Given the description of an element on the screen output the (x, y) to click on. 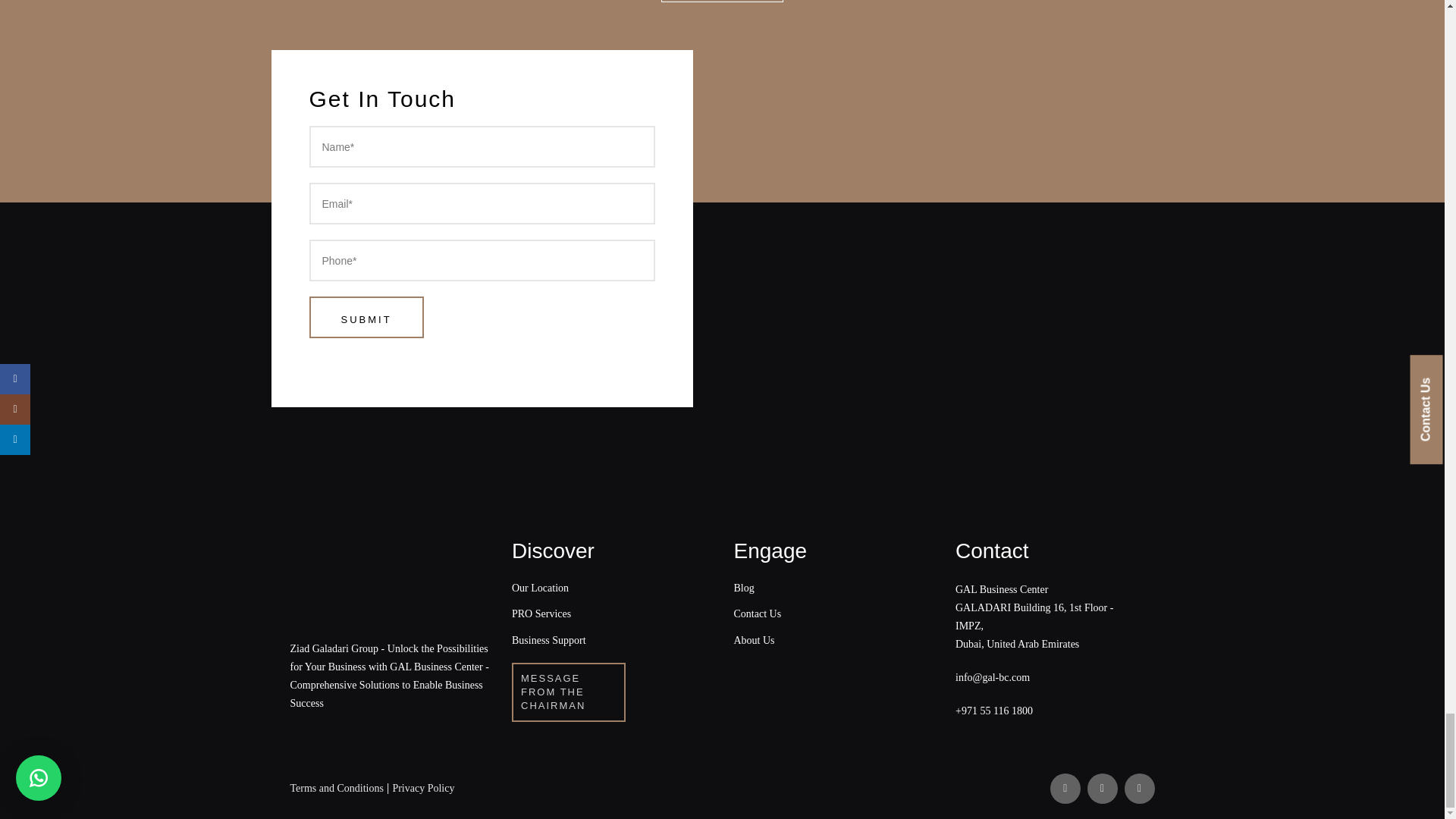
About Us (753, 640)
Contact Us (757, 613)
Terms and Conditions (335, 787)
PRO Services (541, 613)
Blog (743, 587)
Our Location (540, 587)
Business Support (549, 640)
BOOK A TOUR (722, 1)
Submit (365, 317)
Privacy Policy (422, 787)
Submit (365, 317)
